Given the description of an element on the screen output the (x, y) to click on. 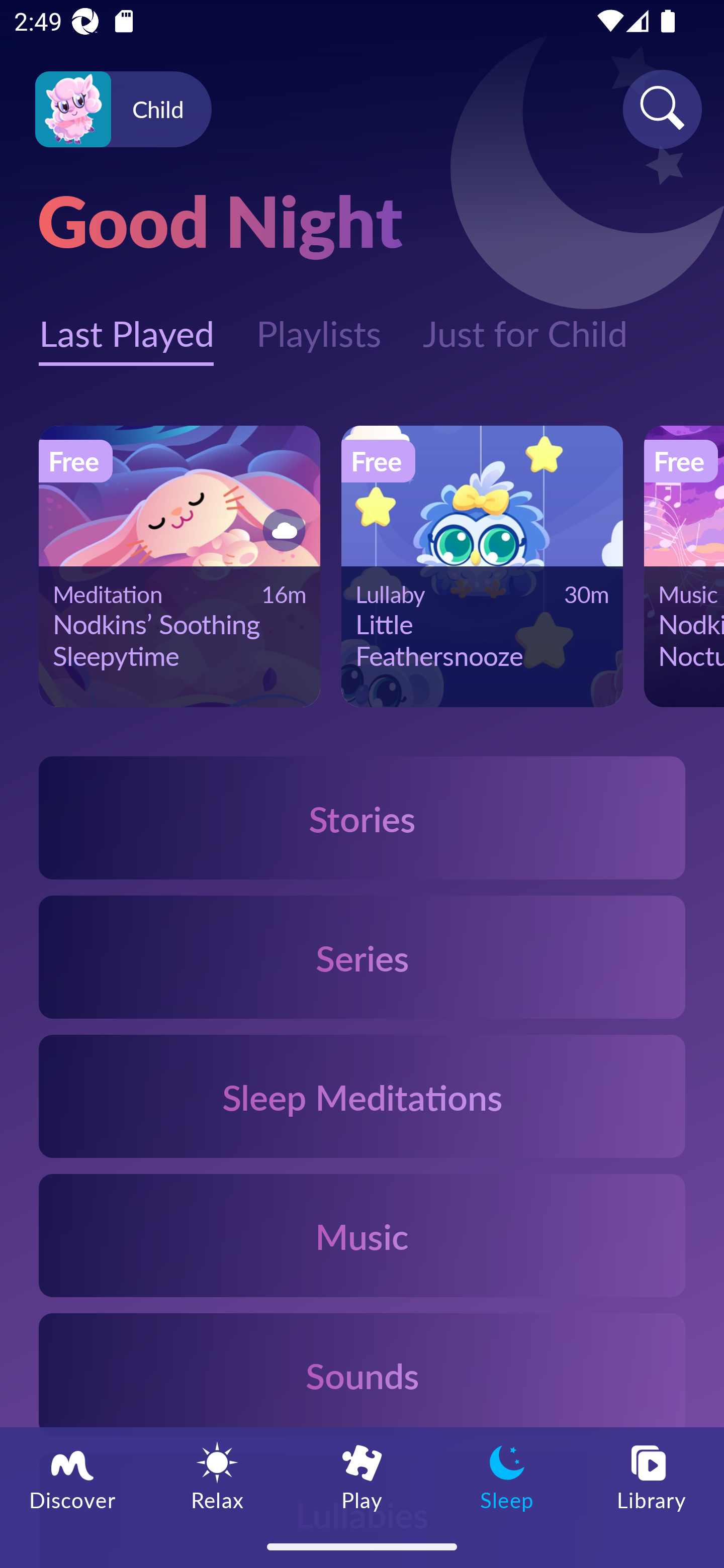
Profile icon Child (123, 109)
Playlists (317, 322)
Just for Child (524, 322)
Button (280, 529)
Stories (361, 817)
Series (361, 957)
Sleep Meditations (361, 1096)
Music (361, 1234)
Sounds (361, 1374)
Discover (72, 1475)
Relax (216, 1475)
Play (361, 1475)
Library (651, 1475)
